Given the description of an element on the screen output the (x, y) to click on. 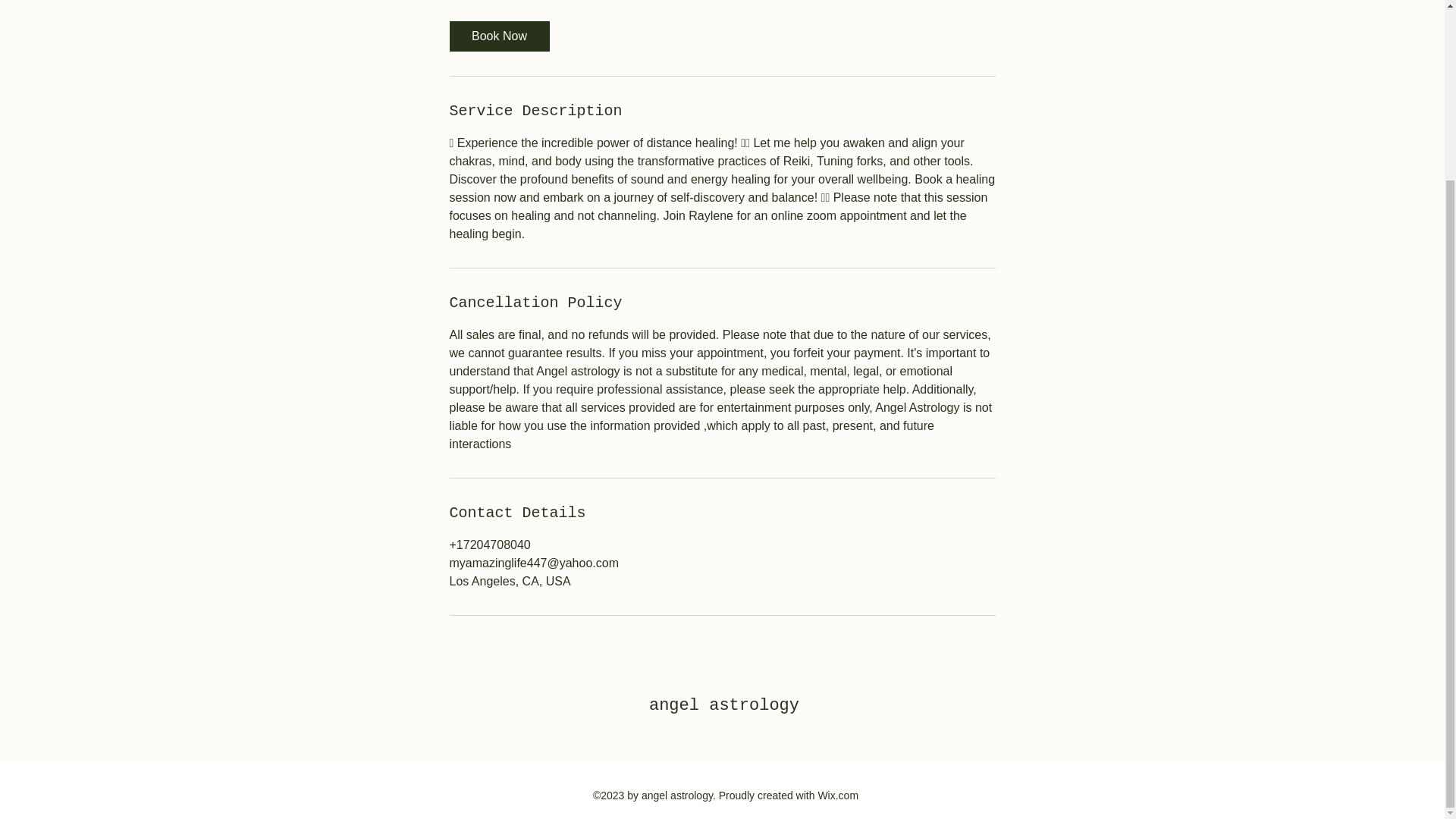
Book Now (498, 36)
